Given the description of an element on the screen output the (x, y) to click on. 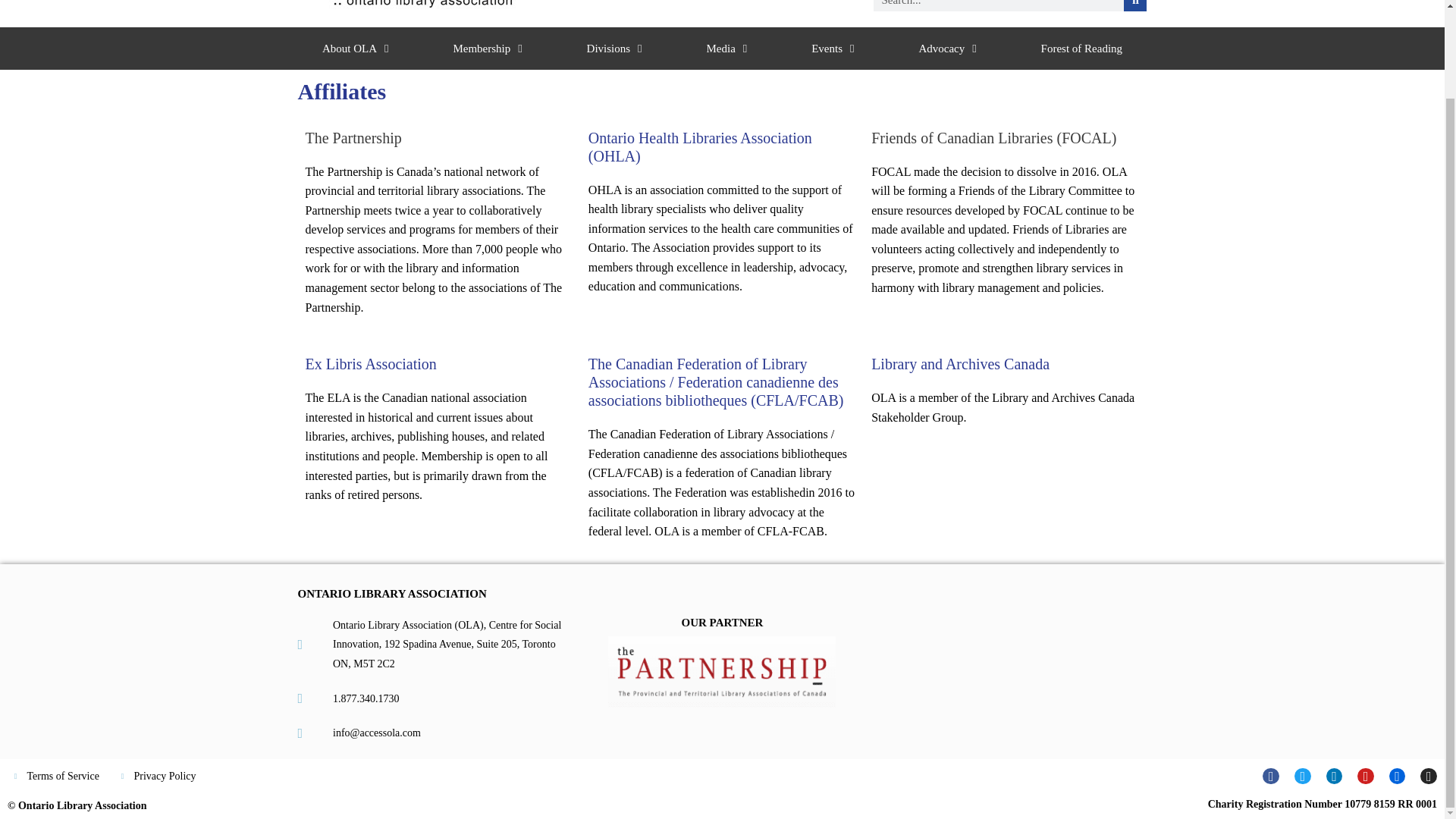
About OLA (354, 48)
Membership (487, 48)
